Given the description of an element on the screen output the (x, y) to click on. 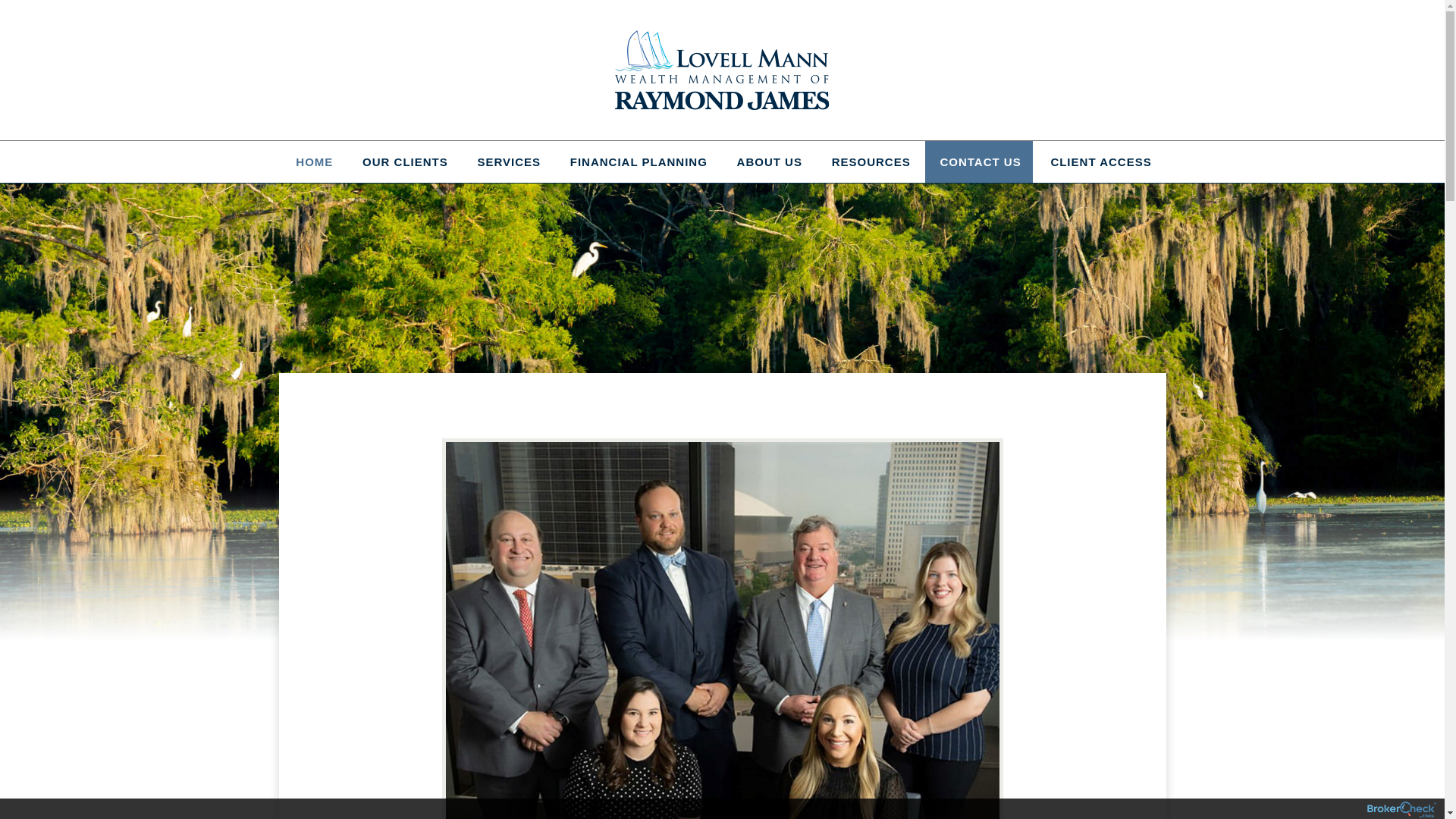
HOME (312, 161)
ABOUT US (767, 161)
OUR CLIENTS (403, 161)
SERVICES (507, 161)
FINANCIAL PLANNING (637, 161)
